Given the description of an element on the screen output the (x, y) to click on. 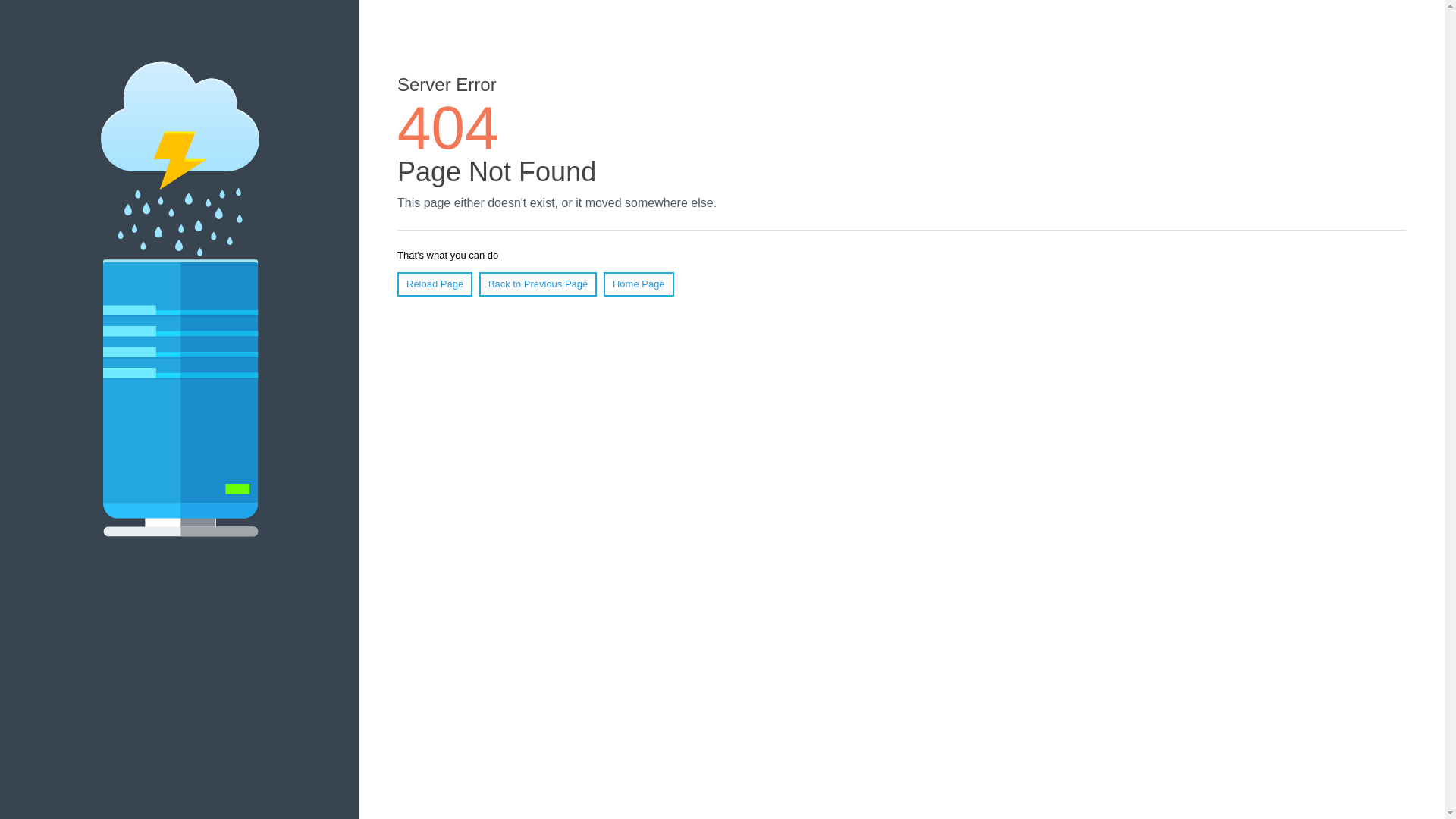
Home Page Element type: text (638, 284)
Reload Page Element type: text (434, 284)
Back to Previous Page Element type: text (538, 284)
